Given the description of an element on the screen output the (x, y) to click on. 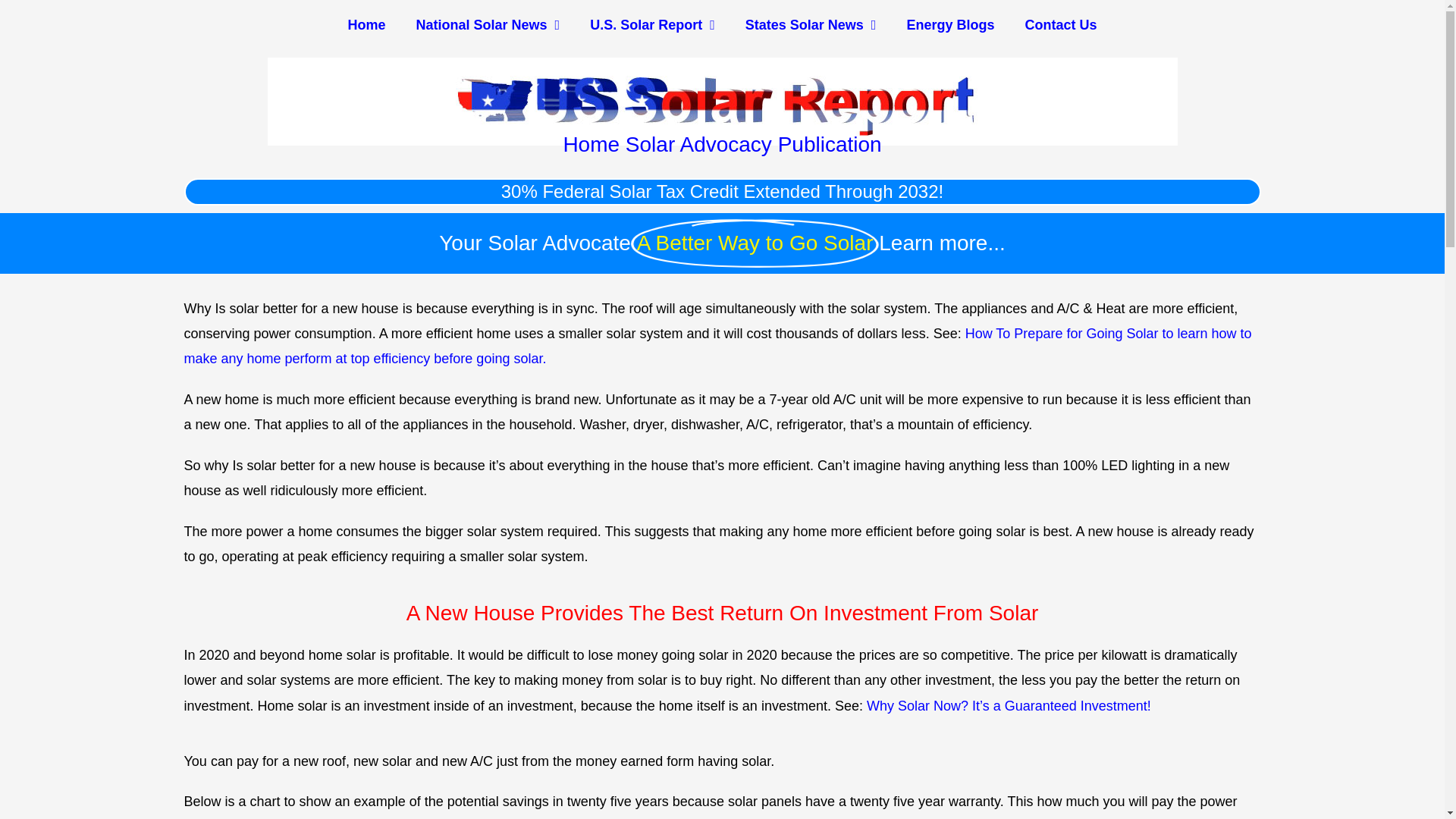
Energy Blogs (950, 24)
U.S. Solar Report (652, 24)
States Solar News (810, 24)
Contact Us (1060, 24)
Home (367, 24)
National Solar News (488, 24)
